Given the description of an element on the screen output the (x, y) to click on. 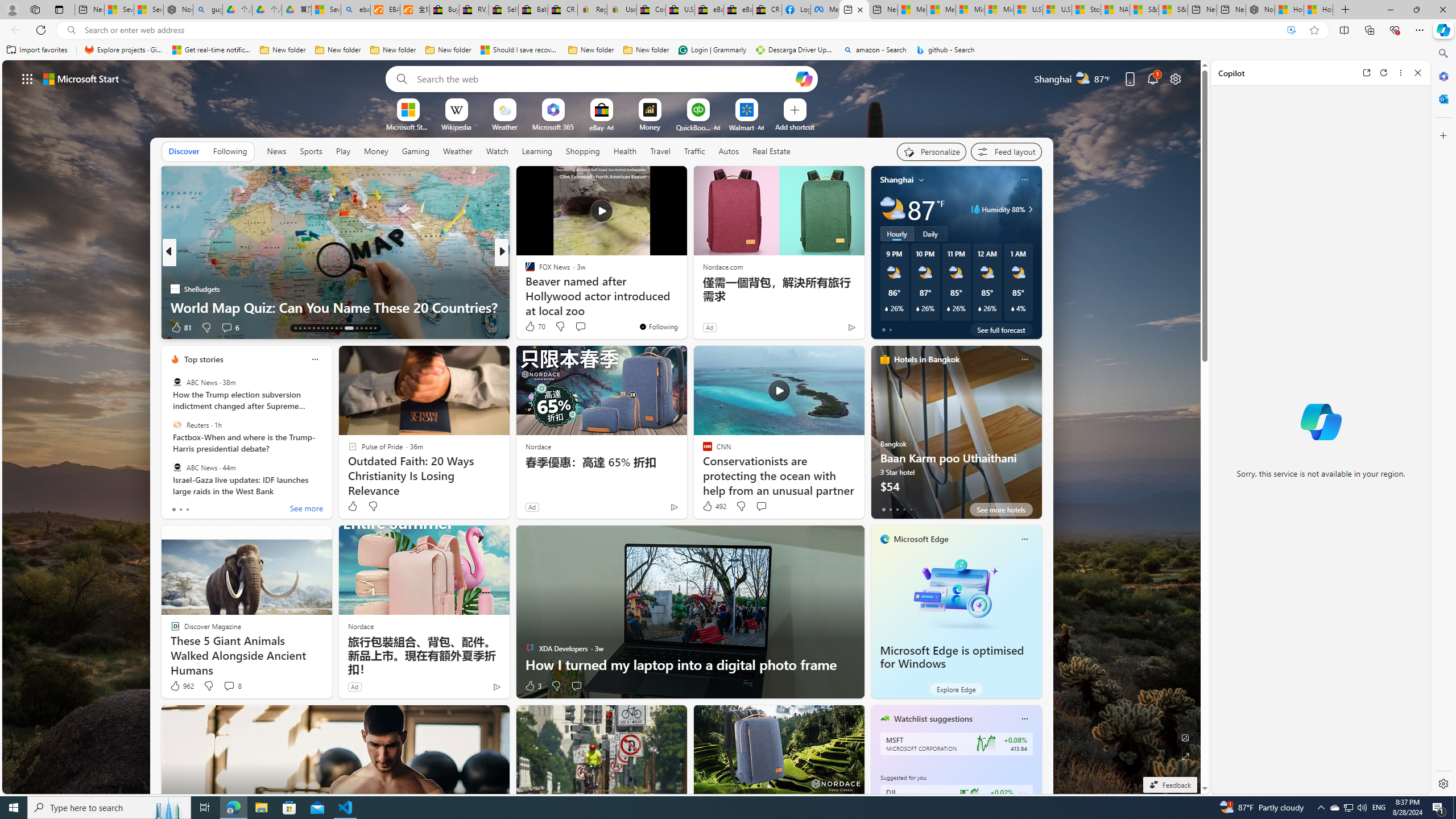
Favorites bar (715, 49)
Minimize (1390, 9)
Partly cloudy (892, 208)
Shopping (582, 151)
Ad Choice (496, 686)
Microsoft 365 (1442, 76)
Health (624, 151)
Tab actions menu (58, 9)
Nordace.com (722, 266)
Back (13, 29)
Wikipedia (456, 126)
How to Use a Monitor With Your Closed Laptop (1318, 9)
SheBudgets (174, 288)
